Given the description of an element on the screen output the (x, y) to click on. 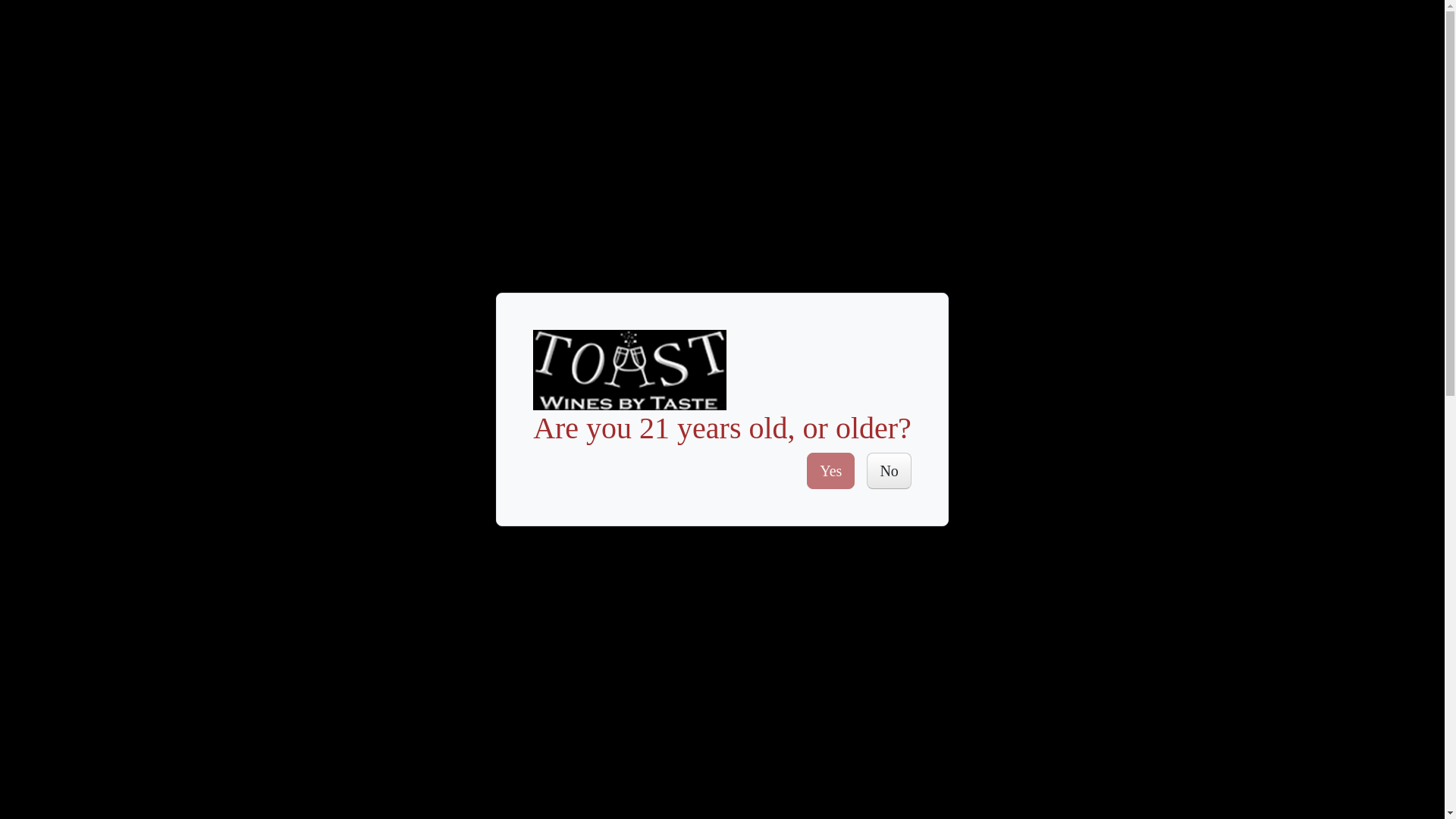
Sartarelli (339, 708)
Verdicchio (343, 677)
Email (1160, 467)
Twitter (1117, 467)
Facebook (1096, 467)
Print (1181, 467)
Message (1202, 467)
SPIRITS (573, 113)
White Wine (346, 646)
OUR CONCEPT (678, 113)
